Given the description of an element on the screen output the (x, y) to click on. 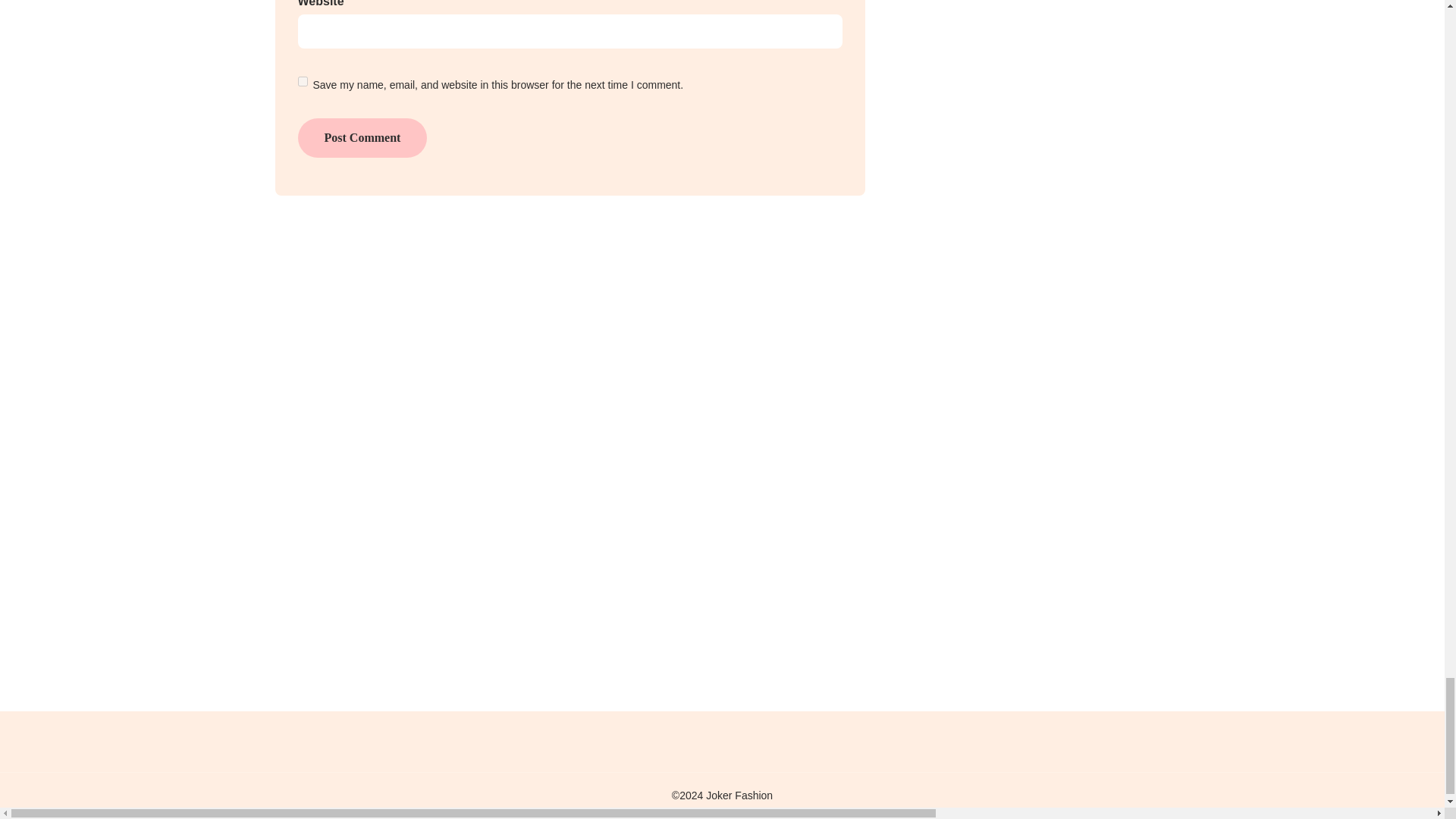
Post Comment (361, 137)
Post Comment (361, 137)
yes (302, 81)
